Given the description of an element on the screen output the (x, y) to click on. 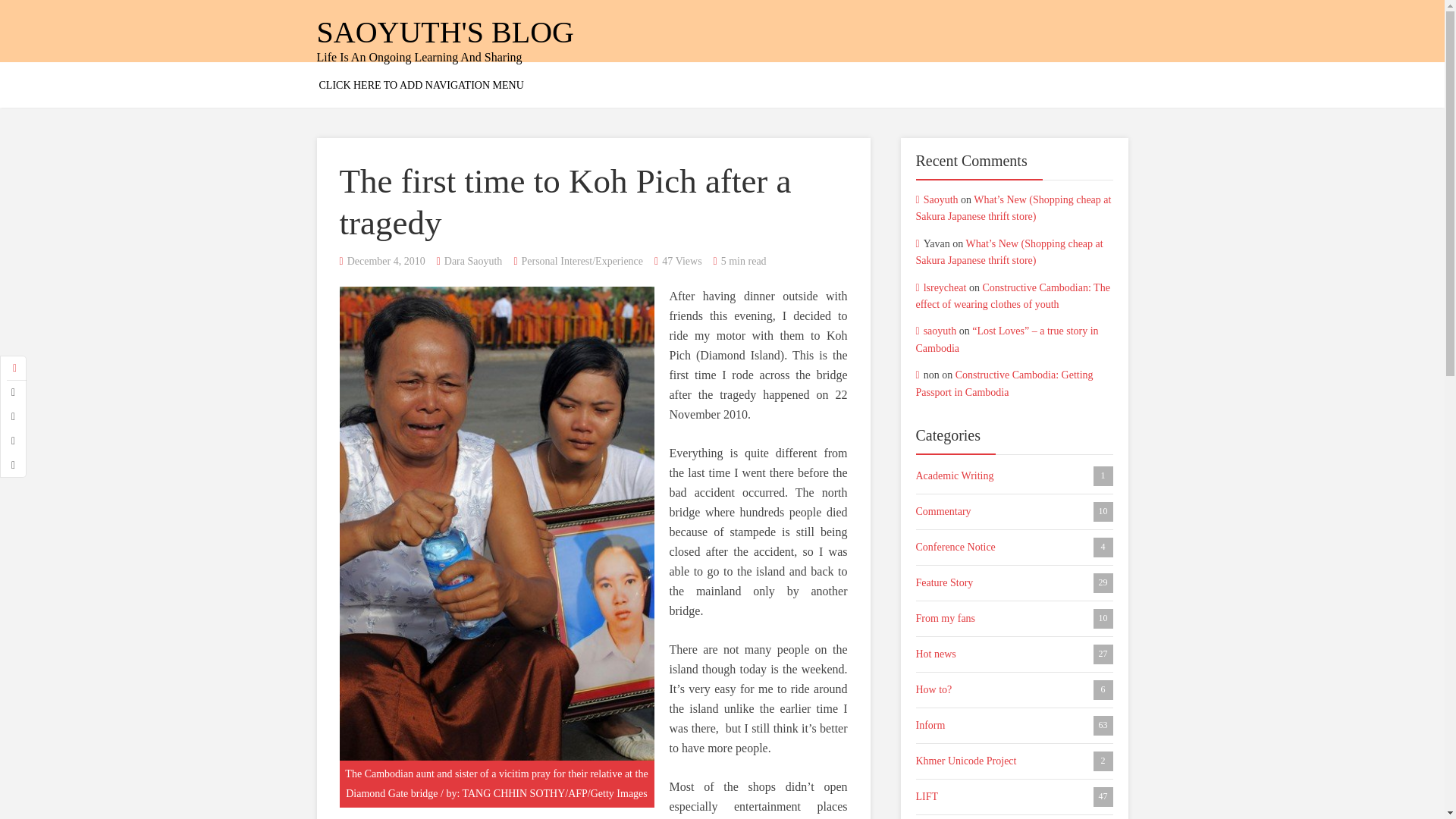
SAOYUTH'S BLOG (445, 32)
CLICK HERE TO ADD NAVIGATION MENU (421, 85)
Saoyuth's Blog (445, 32)
Dara Saoyuth (473, 260)
